Given the description of an element on the screen output the (x, y) to click on. 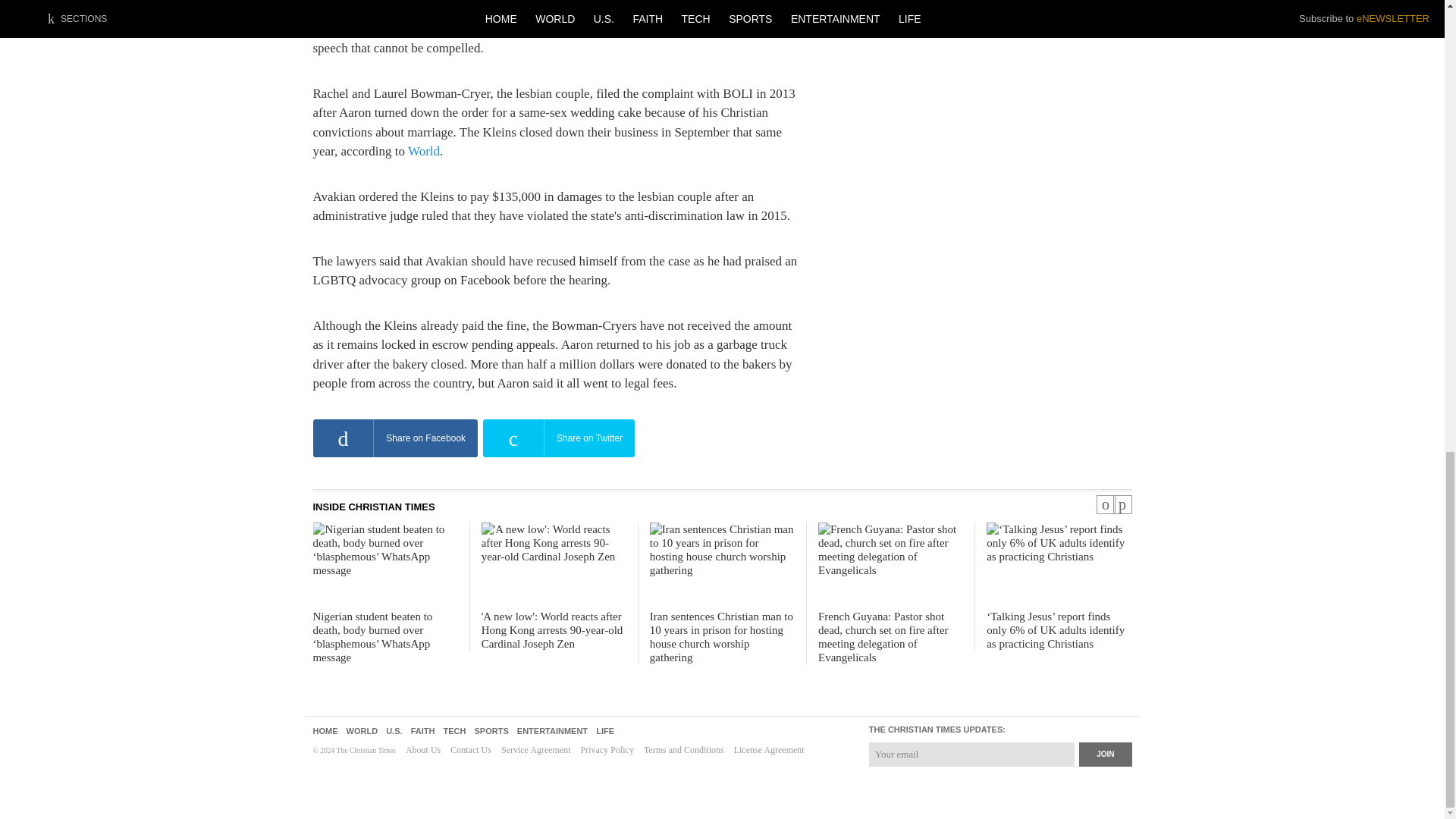
Join (1104, 754)
World (423, 151)
Share on Facebook (395, 438)
Share on Twitter (558, 438)
